Given the description of an element on the screen output the (x, y) to click on. 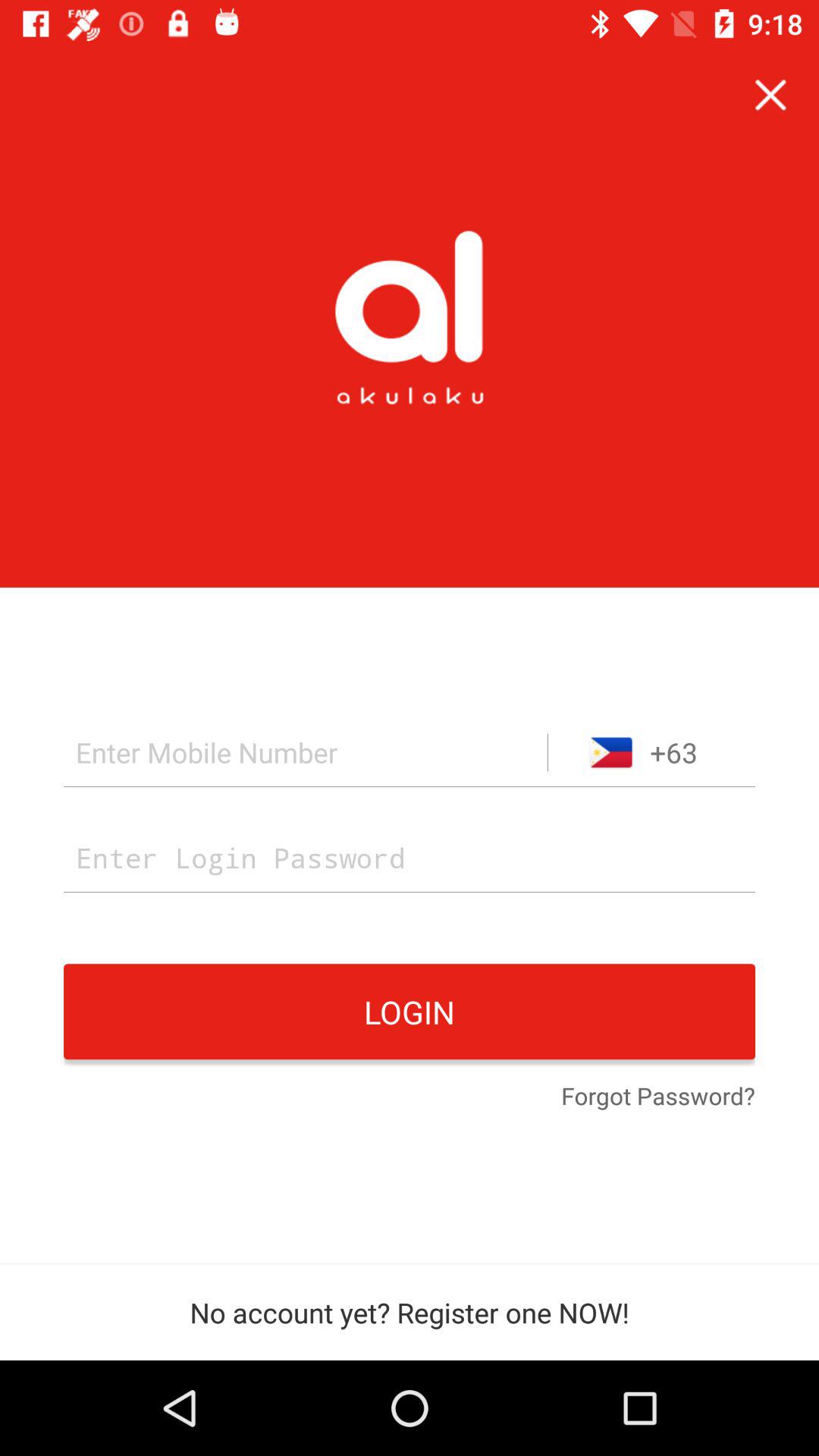
choose item below the login item (658, 1097)
